Given the description of an element on the screen output the (x, y) to click on. 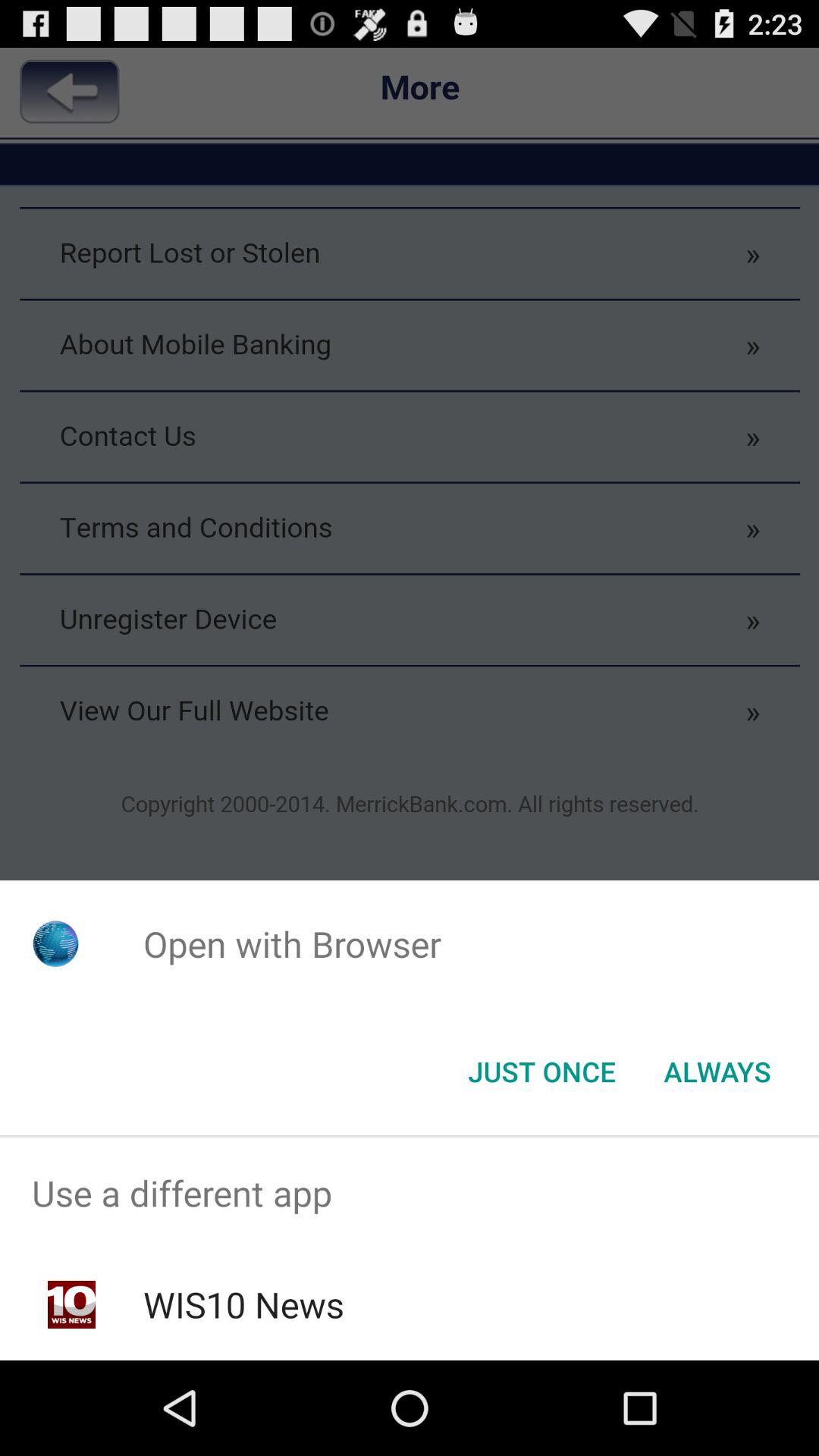
click the button to the left of the always item (541, 1071)
